Given the description of an element on the screen output the (x, y) to click on. 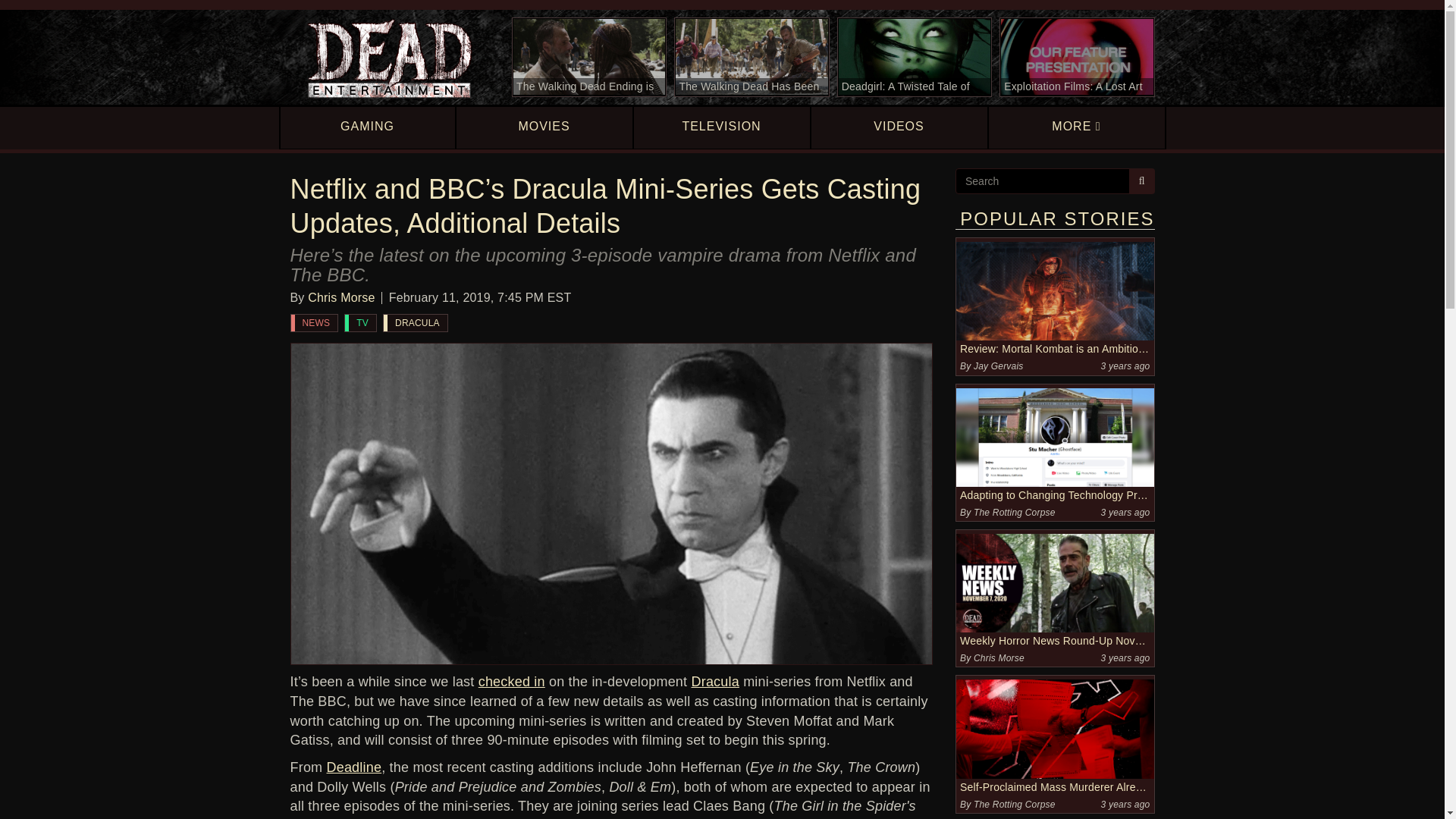
NEWS (314, 322)
Dracula (715, 681)
Deadgirl: A Twisted Tale of Lust and "True" Love (914, 57)
Exploitation Films: A Lost Art and Genre of Decades Past (1076, 57)
checked in (511, 681)
TV (360, 322)
Chris Morse (340, 297)
DRACULA (415, 322)
